Given the description of an element on the screen output the (x, y) to click on. 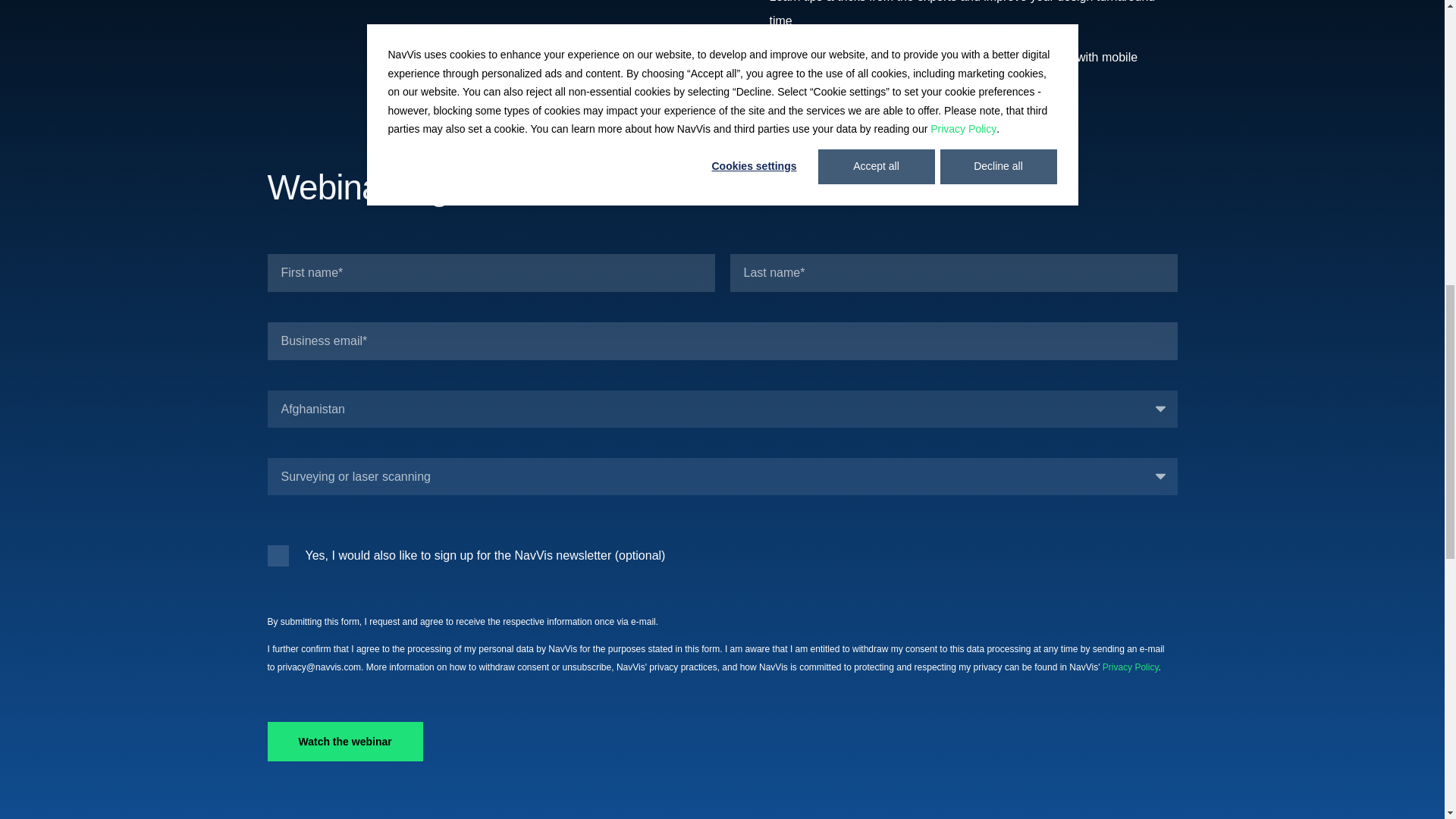
Watch the webinar (344, 741)
Privacy Policy (1130, 666)
Watch the webinar (344, 741)
